Given the description of an element on the screen output the (x, y) to click on. 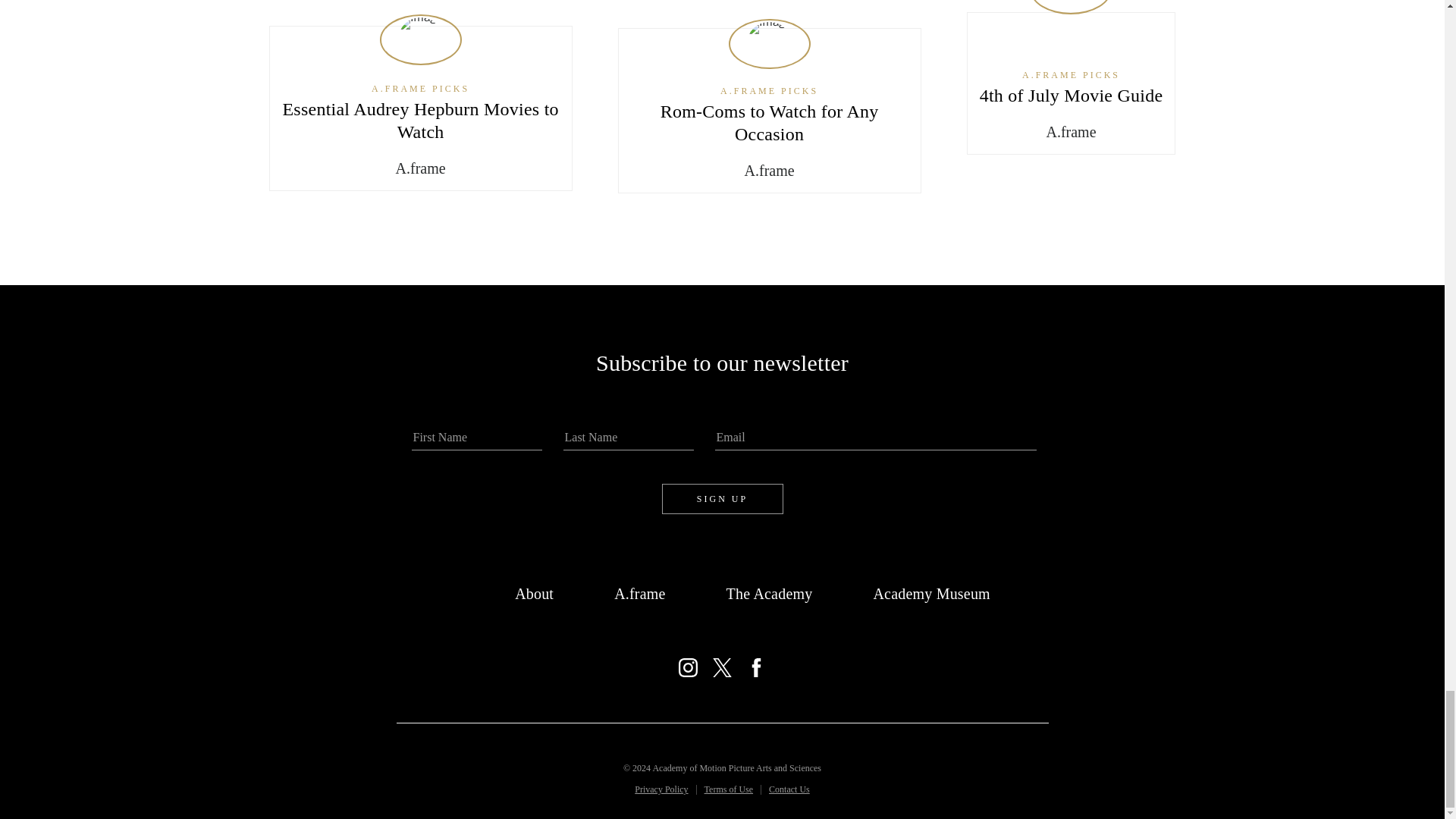
A.FRAME PICKS (420, 88)
The Academy (769, 593)
A.FRAME PICKS (1071, 75)
A.FRAME PICKS (769, 90)
About (534, 593)
Rom-Coms to Watch for Any Occasion (770, 122)
SIGN UP (722, 499)
Terms of Use (728, 789)
A.frame (639, 593)
Essential Audrey Hepburn Movies to Watch (419, 120)
Privacy Policy (661, 789)
Contact Us (788, 789)
Academy Museum (931, 593)
4th of July Movie Guide (1071, 95)
First Name (475, 437)
